Given the description of an element on the screen output the (x, y) to click on. 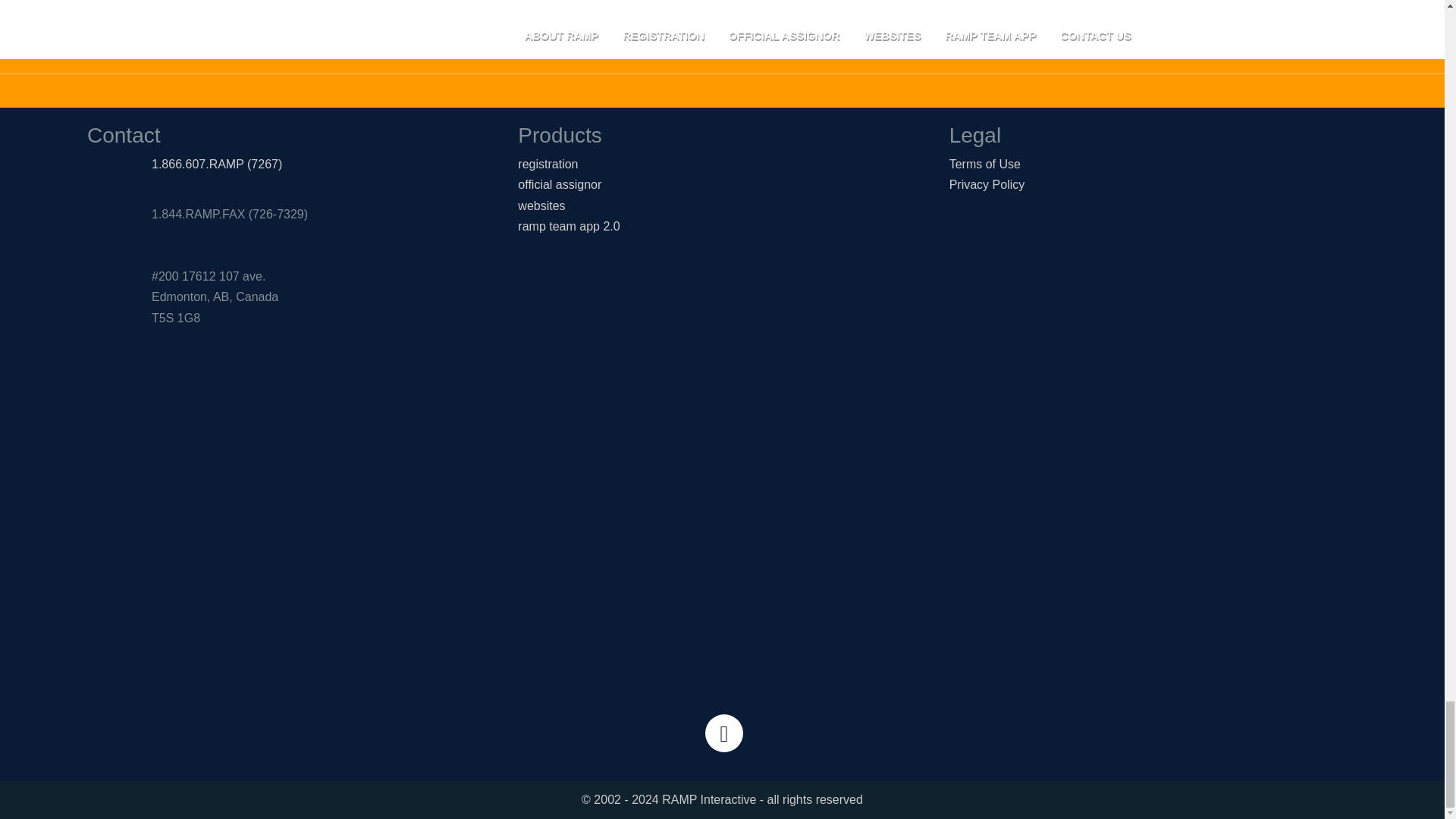
ramp team app 2.0 (569, 226)
registration (548, 164)
websites (541, 205)
official assignor (559, 184)
